Given the description of an element on the screen output the (x, y) to click on. 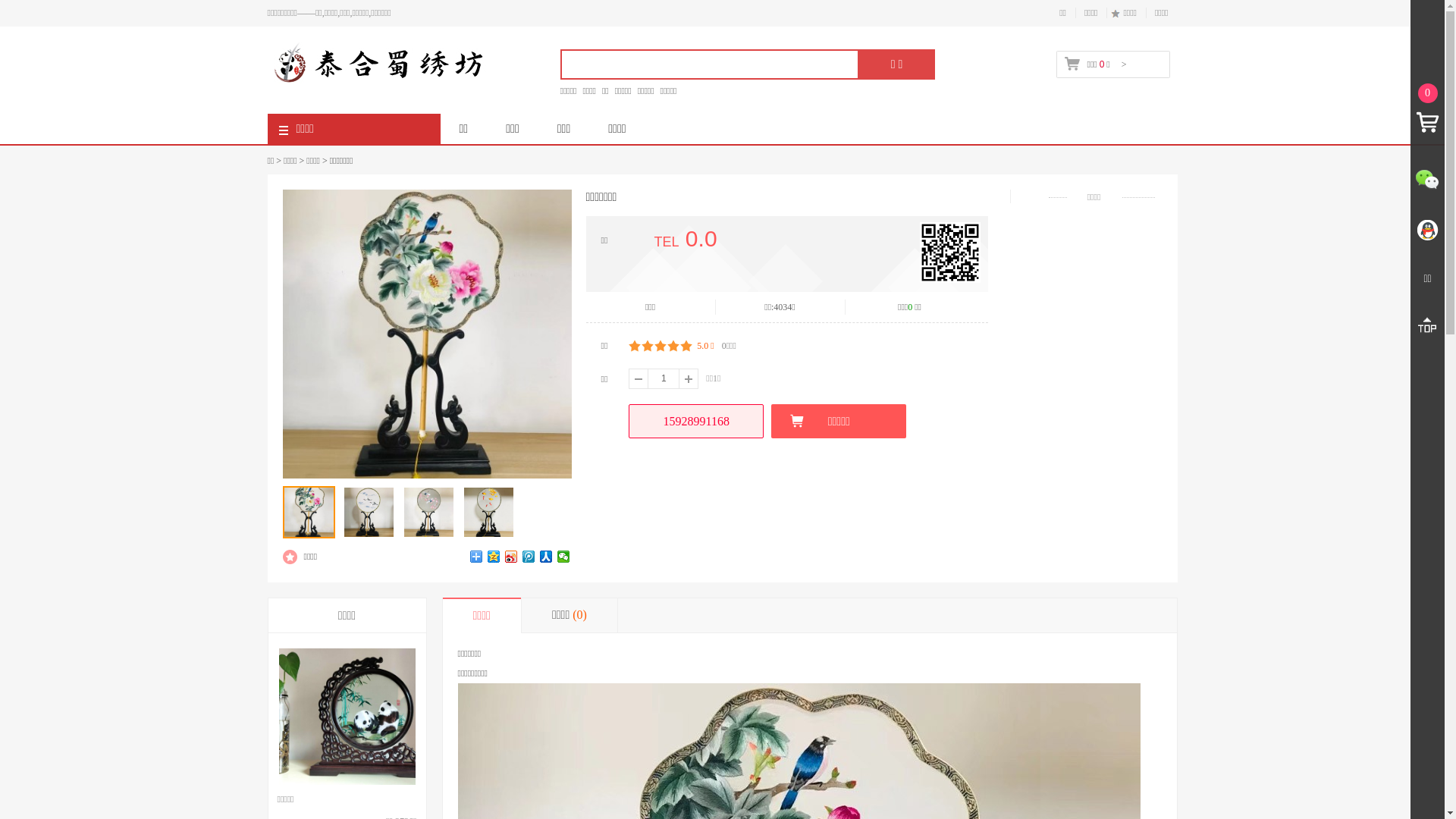
2 Element type: hover (647, 345)
15928991168 Element type: text (695, 421)
3 Element type: hover (660, 345)
5 Element type: hover (686, 345)
1 Element type: hover (634, 345)
0 Element type: text (1427, 111)
4 Element type: hover (673, 345)
